Given the description of an element on the screen output the (x, y) to click on. 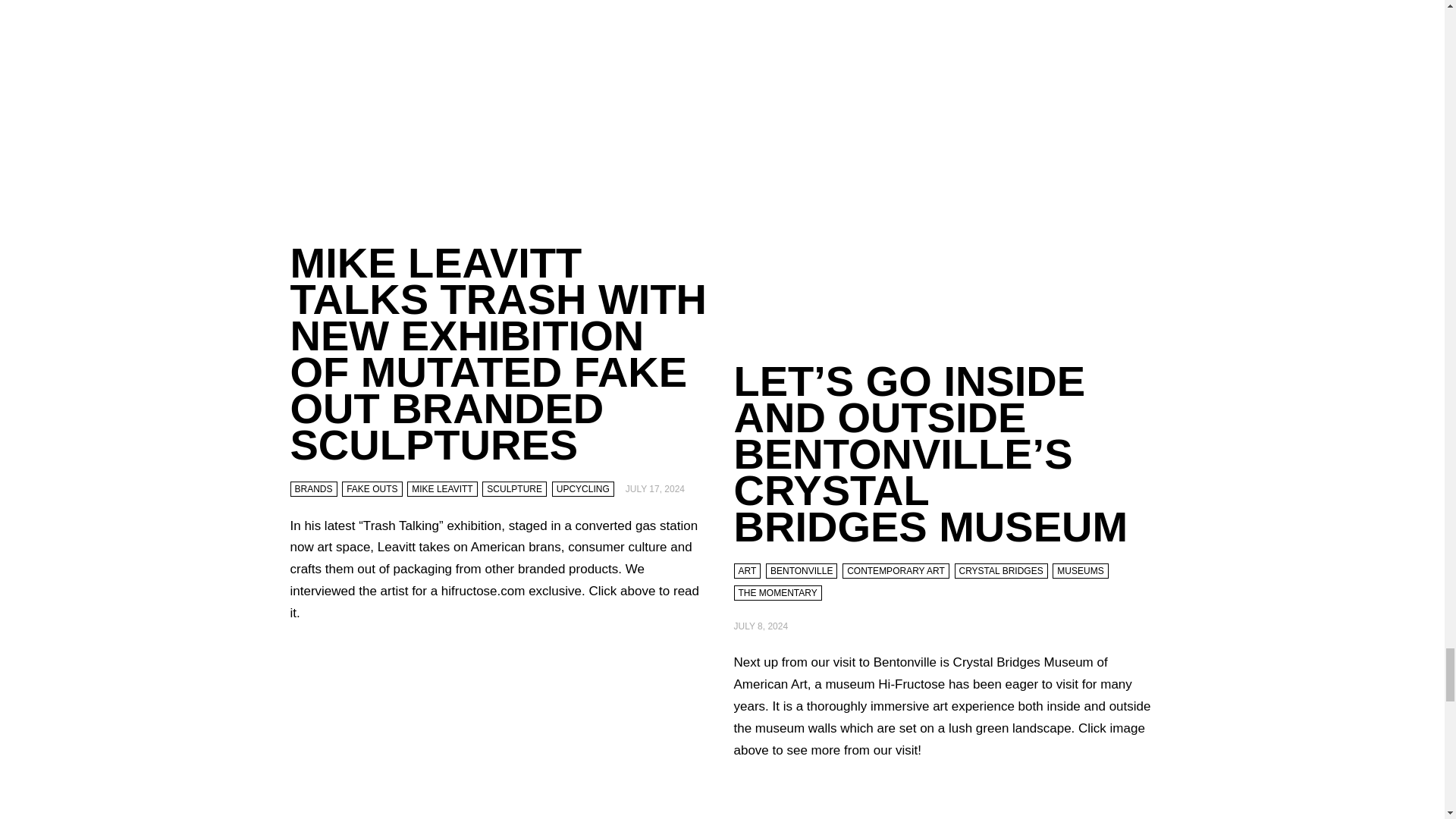
CONTEMPORARY ART (896, 570)
UPCYCLING (582, 488)
ART (747, 570)
BENTONVILLE (801, 570)
MIKE LEAVITT (442, 488)
SCULPTURE (514, 488)
THE MOMENTARY (777, 592)
CRYSTAL BRIDGES (999, 570)
BRANDS (312, 488)
FAKE OUTS (371, 488)
MUSEUMS (1080, 570)
